Given the description of an element on the screen output the (x, y) to click on. 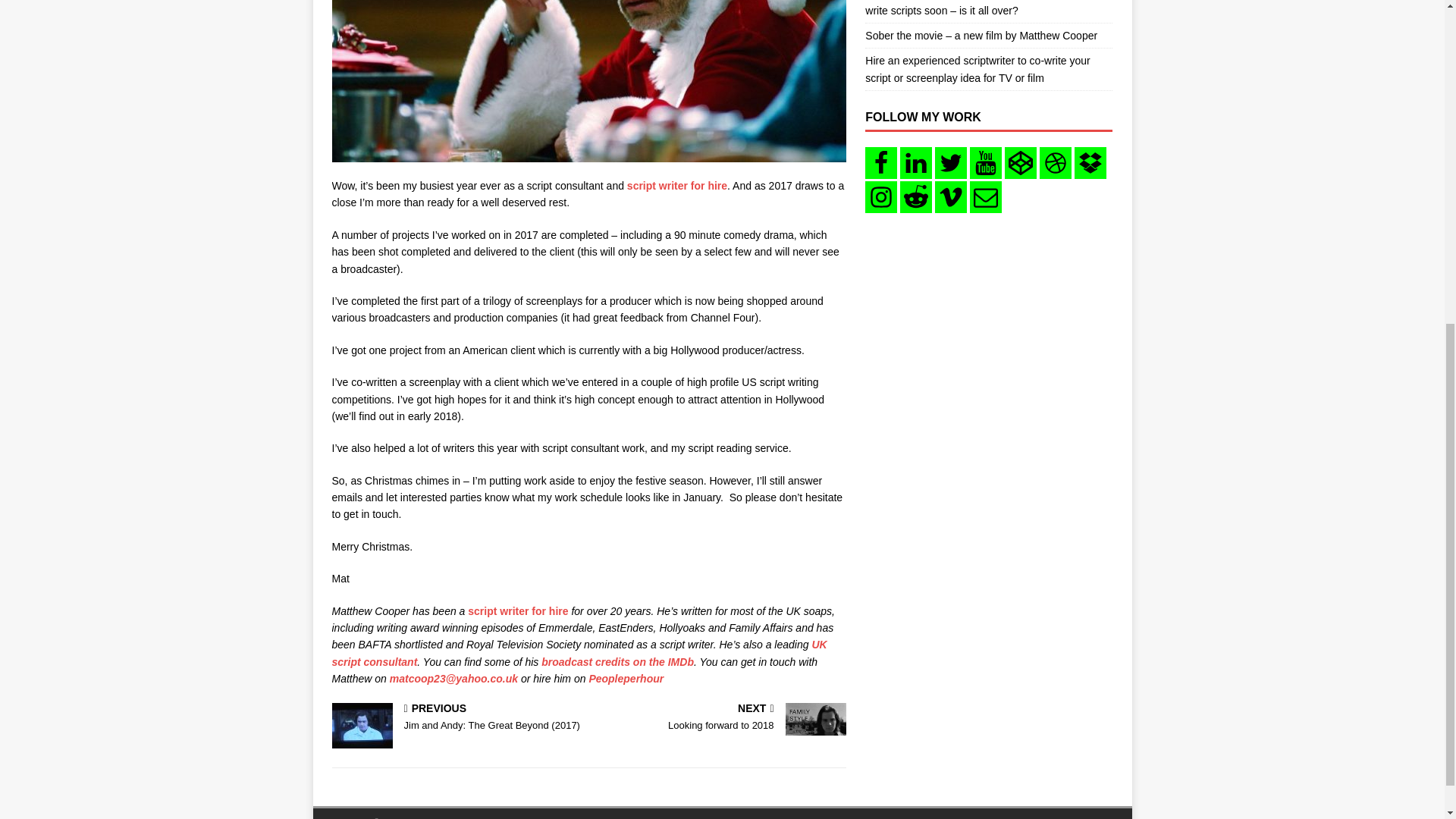
Codepen (1020, 163)
Facebook (880, 163)
Dribbble (1055, 163)
Youtube (985, 163)
Twitter (950, 163)
bad-santa-1-1000 (588, 81)
Reddit (915, 196)
Vimeo (950, 196)
LinkedIn (915, 163)
Dropbox (1090, 163)
